Given the description of an element on the screen output the (x, y) to click on. 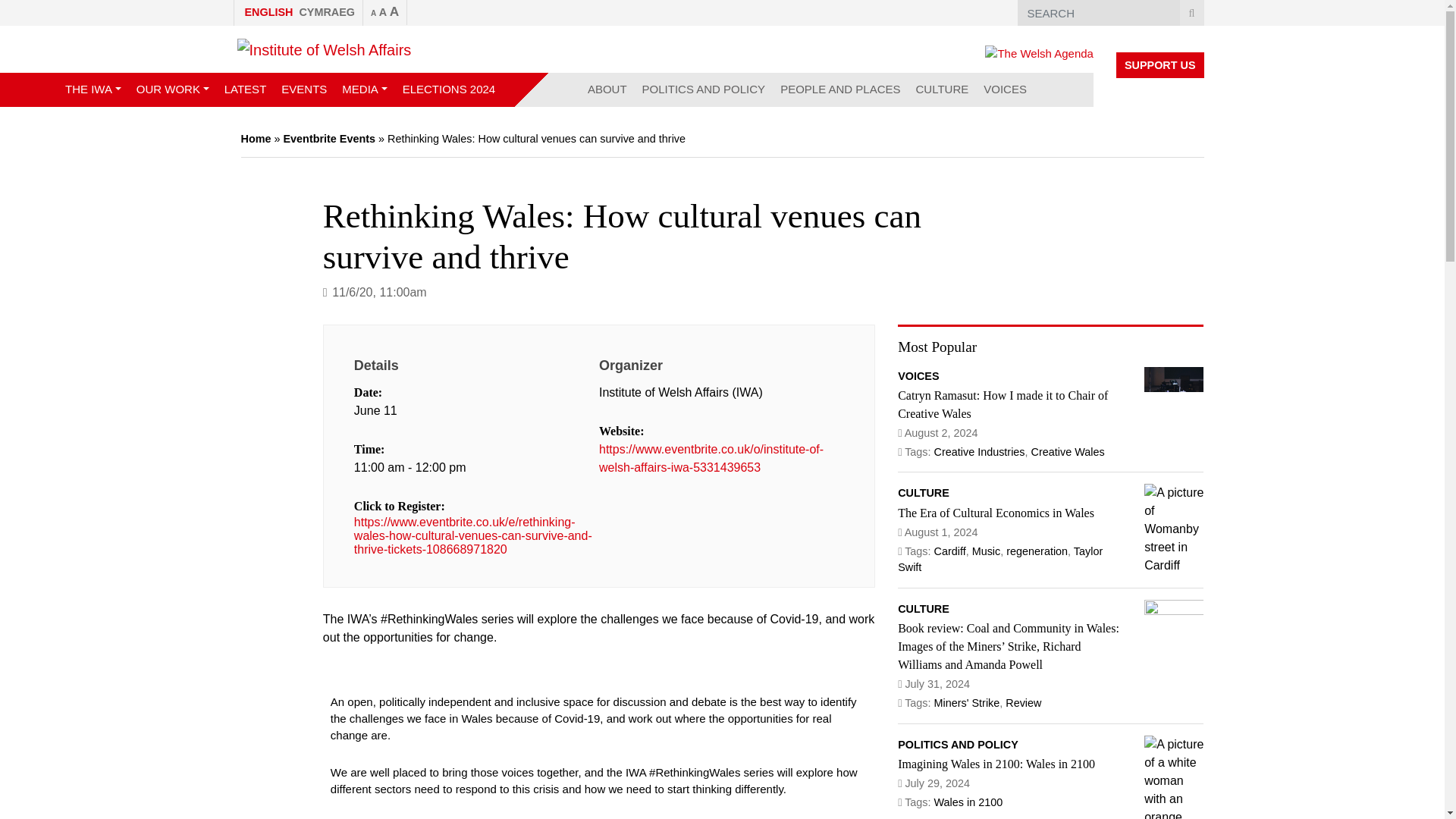
The Welsh Agenda (1039, 54)
OUR WORK (172, 89)
LATEST (245, 89)
The Welsh Agenda (1039, 53)
Institute of Welsh Affairs (322, 48)
EVENTS (303, 89)
PEOPLE AND PLACES (840, 89)
Institute of Welsh Affairs (322, 49)
The IWA (93, 89)
POLITICS AND POLICY (703, 89)
 ENGLISH (263, 12)
ABOUT (606, 89)
 CYMRAEG (328, 12)
SUPPORT US (1160, 64)
ELECTIONS 2024 (448, 89)
